Given the description of an element on the screen output the (x, y) to click on. 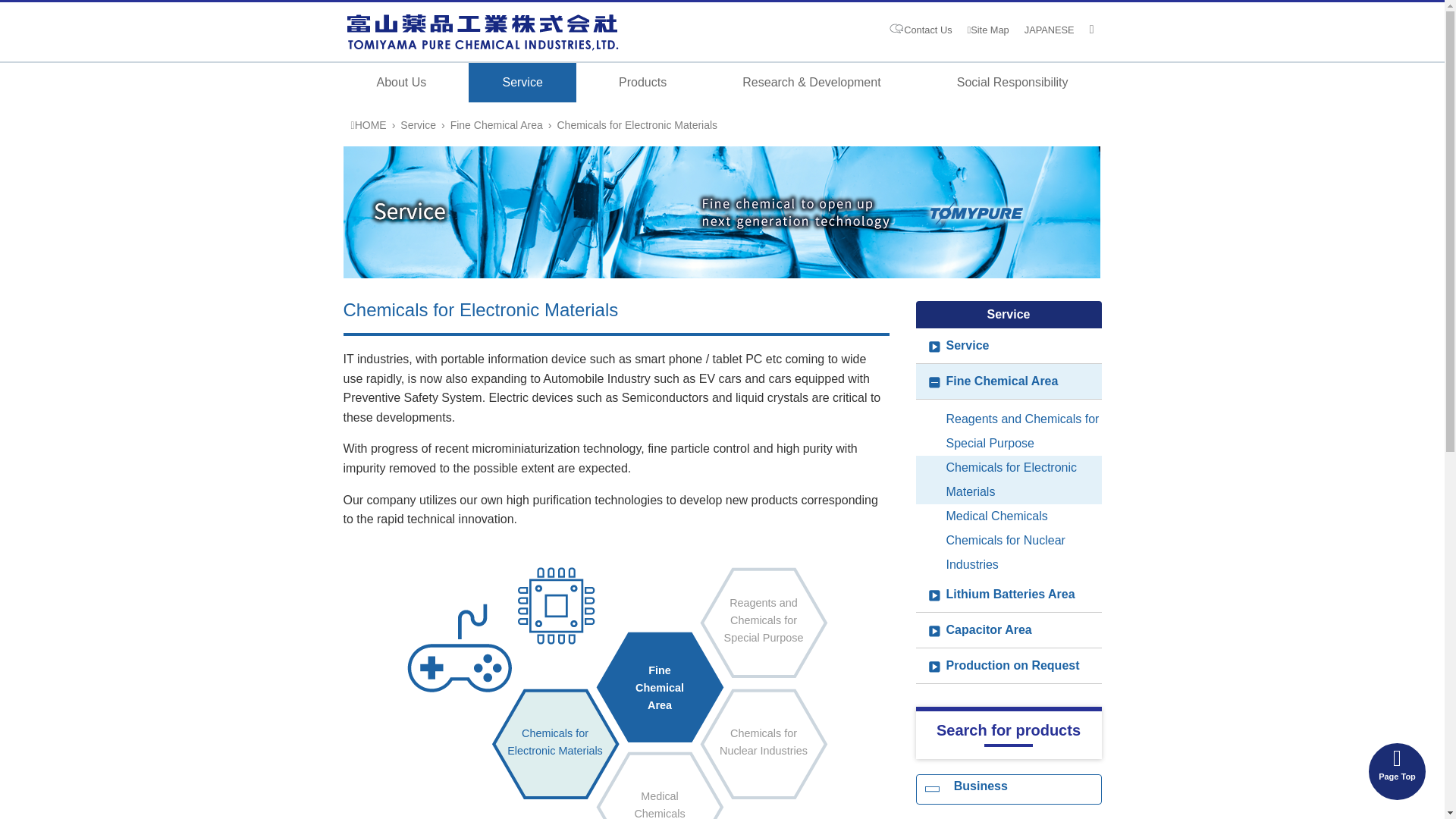
Contact Us (928, 30)
About Us (401, 82)
Service (521, 82)
Products (642, 82)
Social Responsibility (1012, 82)
JAPANESE (1049, 30)
Site Map (988, 30)
